Given the description of an element on the screen output the (x, y) to click on. 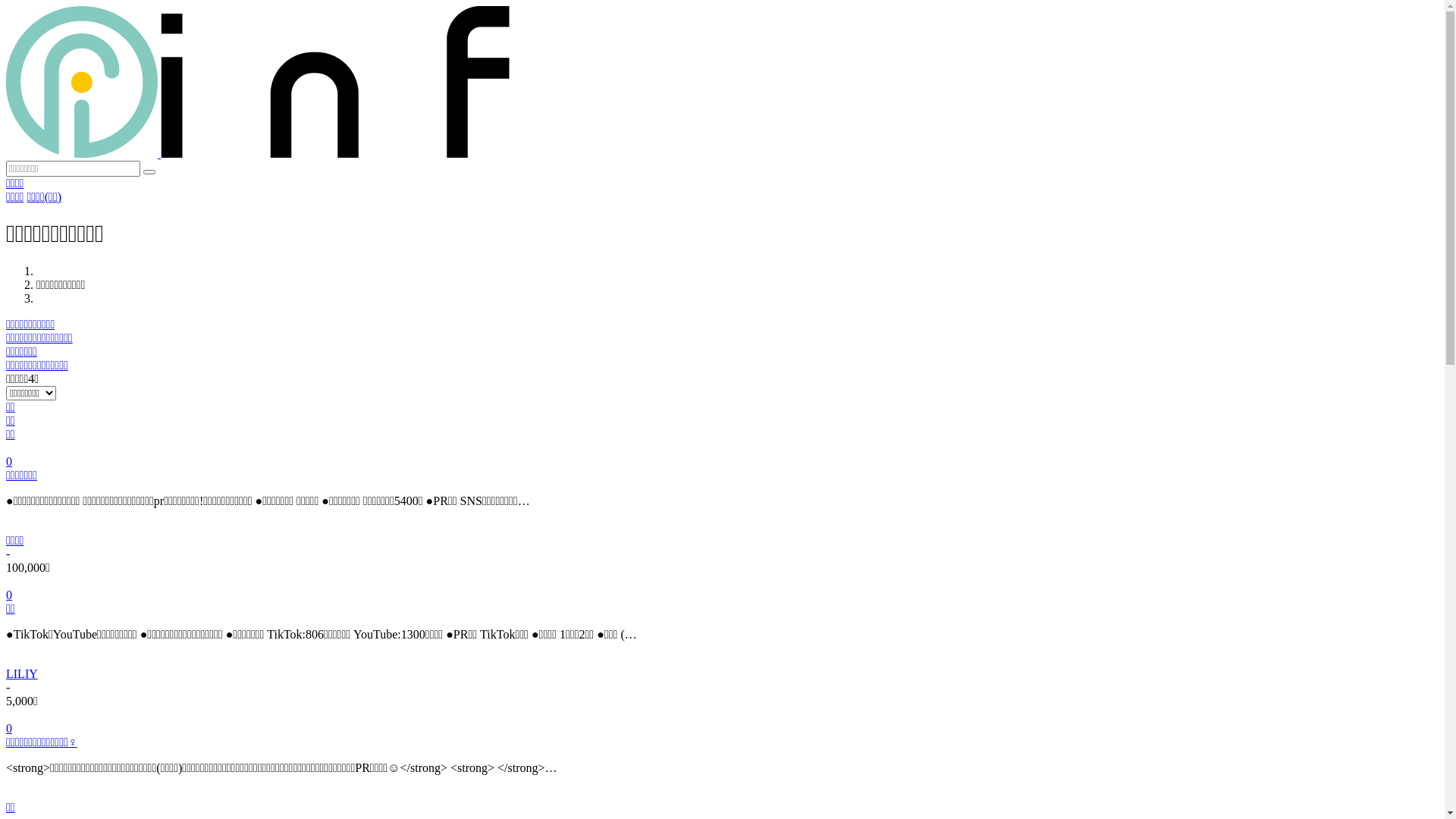
0 Element type: text (722, 454)
LILIY Element type: text (21, 673)
0 Element type: text (722, 721)
0 Element type: text (722, 588)
